Given the description of an element on the screen output the (x, y) to click on. 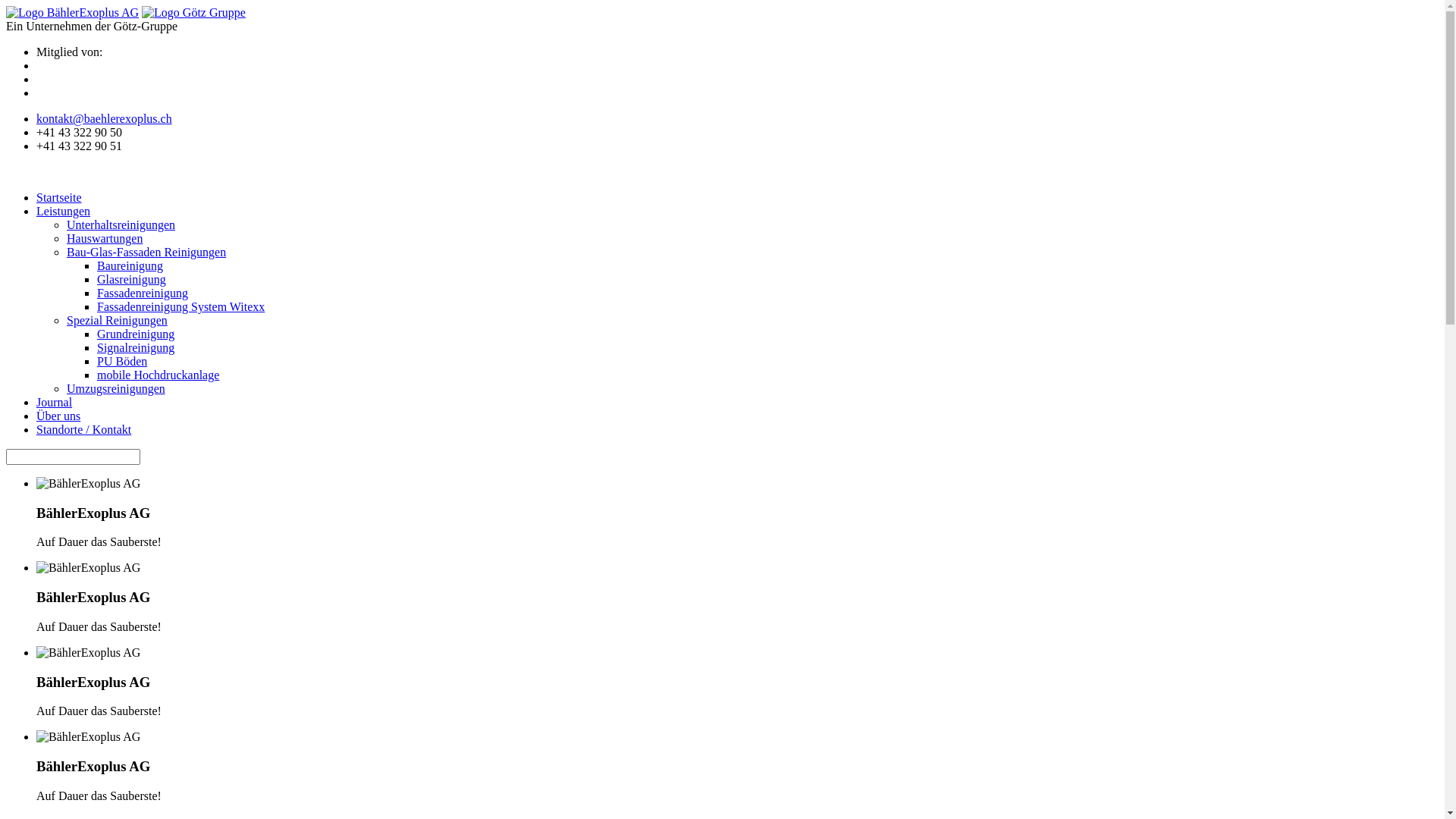
Signalreinigung Element type: text (135, 347)
Unterhaltsreinigungen Element type: text (120, 224)
Spezial Reinigungen Element type: text (116, 319)
Umzugsreinigungen Element type: text (115, 388)
mobile Hochdruckanlage Element type: text (158, 374)
Bau-Glas-Fassaden Reinigungen Element type: text (145, 251)
Fassadenreinigung System Witexx Element type: text (180, 306)
Standorte / Kontakt Element type: text (83, 429)
Baureinigung Element type: text (130, 265)
Grundreinigung Element type: text (135, 333)
Hauswartungen Element type: text (104, 238)
Startseite Element type: text (58, 197)
Glasreinigung Element type: text (131, 279)
Journal Element type: text (54, 401)
Leistungen Element type: text (63, 210)
Fassadenreinigung Element type: text (142, 292)
kontakt@baehlerexoplus.ch Element type: text (104, 118)
